Given the description of an element on the screen output the (x, y) to click on. 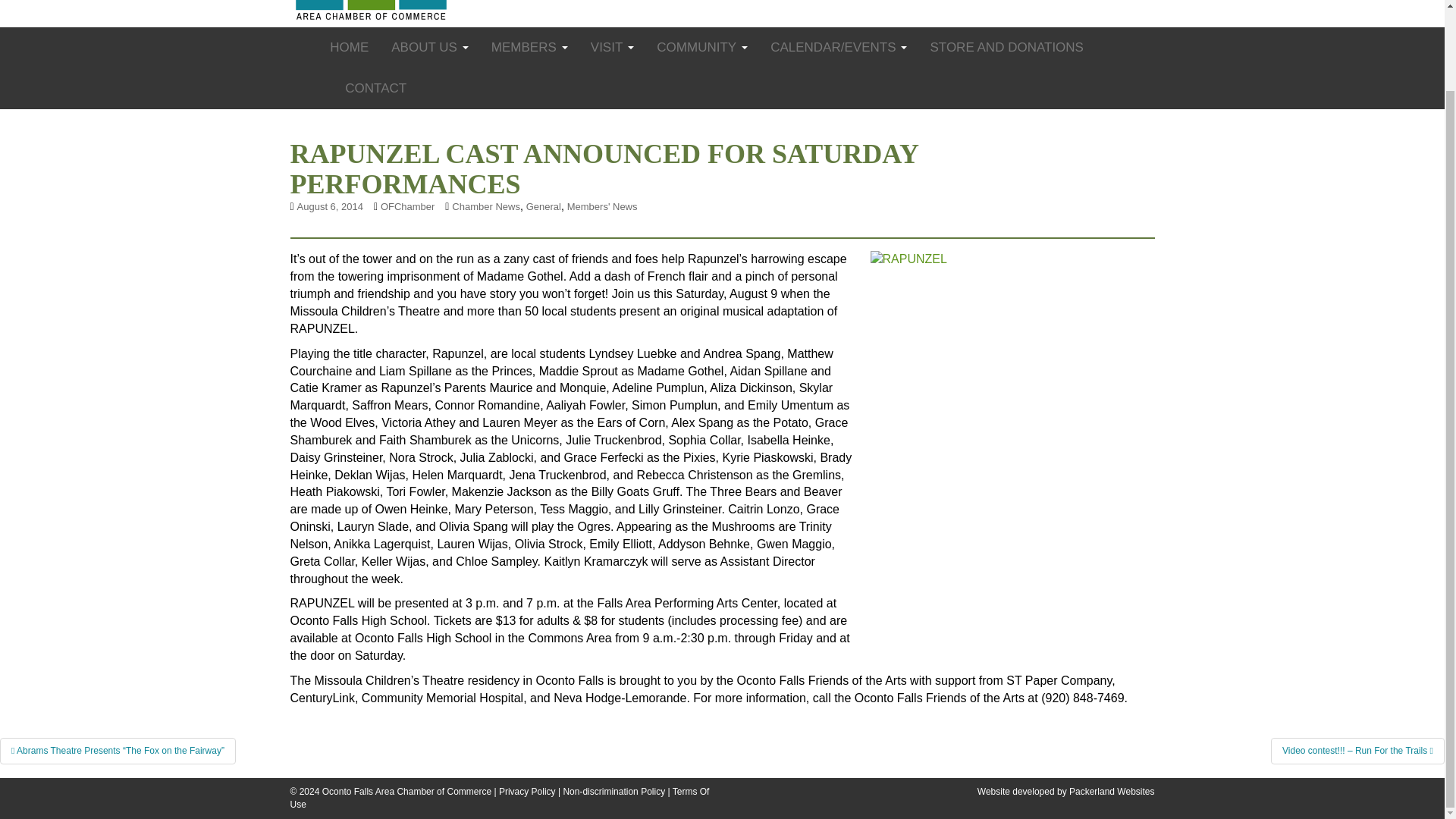
Chamber News (485, 206)
VISIT (595, 47)
COMMUNITY (684, 47)
August 6, 2014 (329, 206)
Members' News (602, 206)
CONTACT (363, 87)
MEMBERS (512, 47)
General (542, 206)
HOME (344, 47)
STORE AND DONATIONS (995, 47)
